Given the description of an element on the screen output the (x, y) to click on. 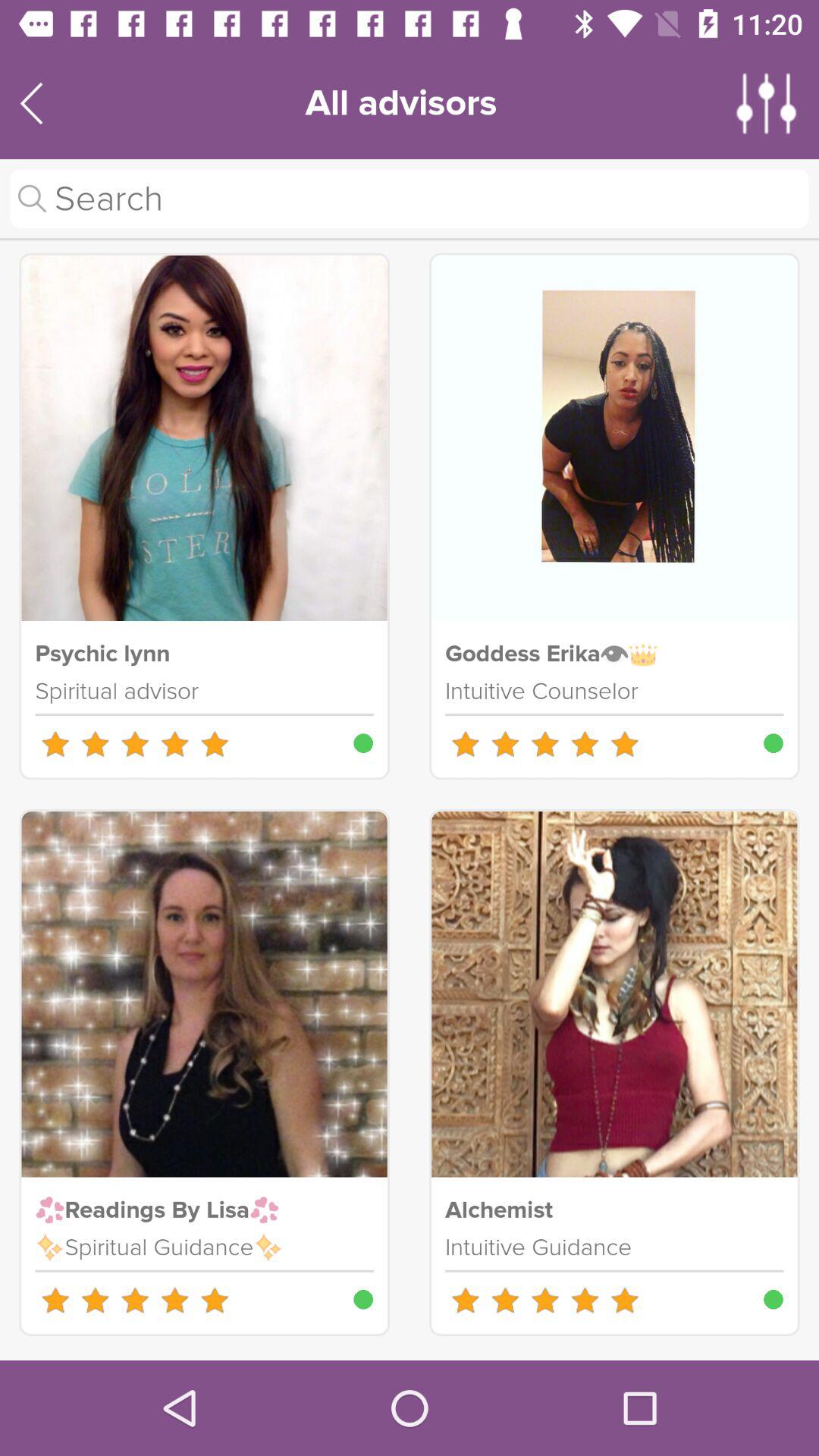
view more options (767, 103)
